Given the description of an element on the screen output the (x, y) to click on. 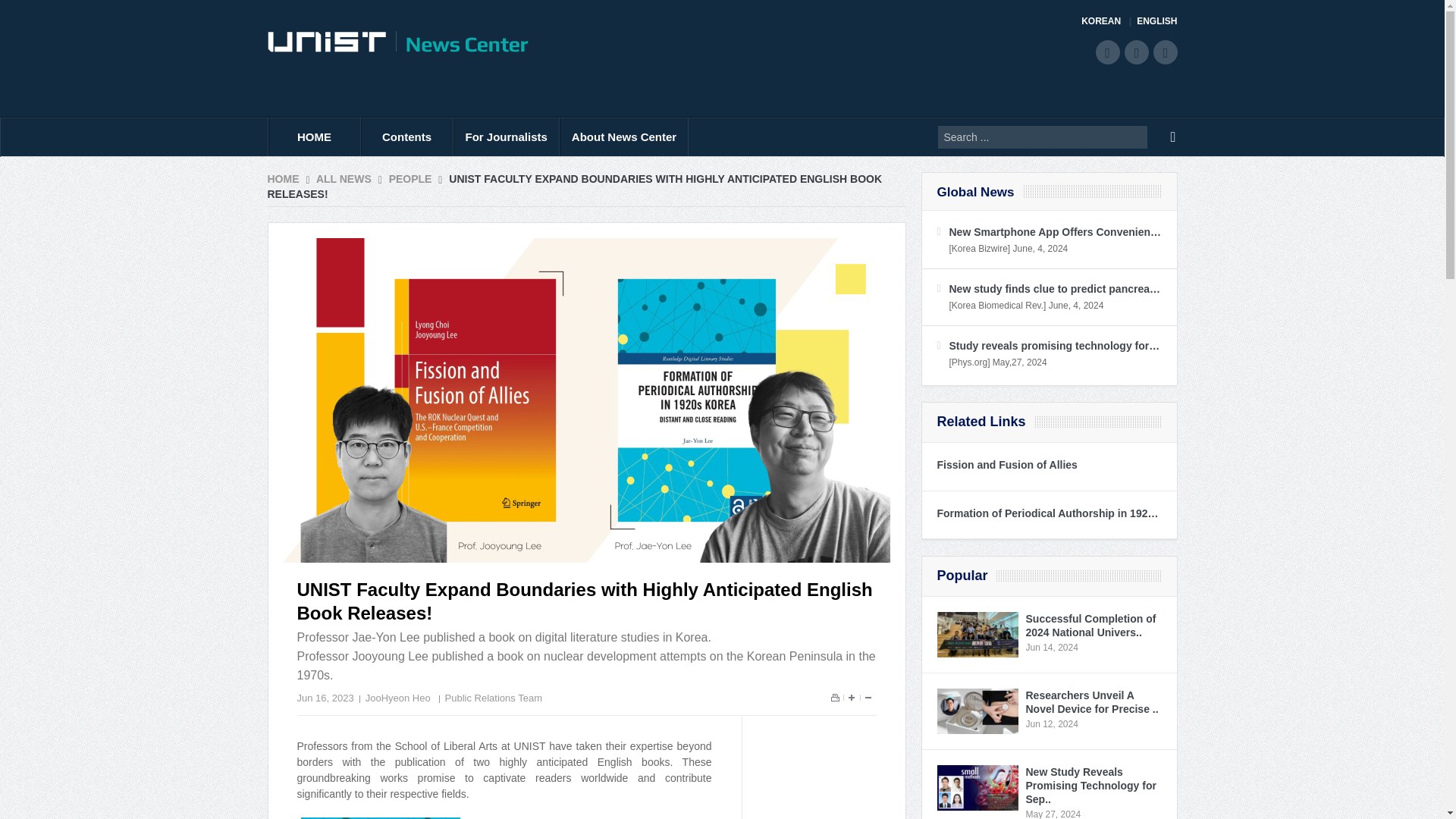
HOME (313, 136)
Contents (406, 136)
KOREAN (1105, 21)
ENGLISH (1156, 21)
